Given the description of an element on the screen output the (x, y) to click on. 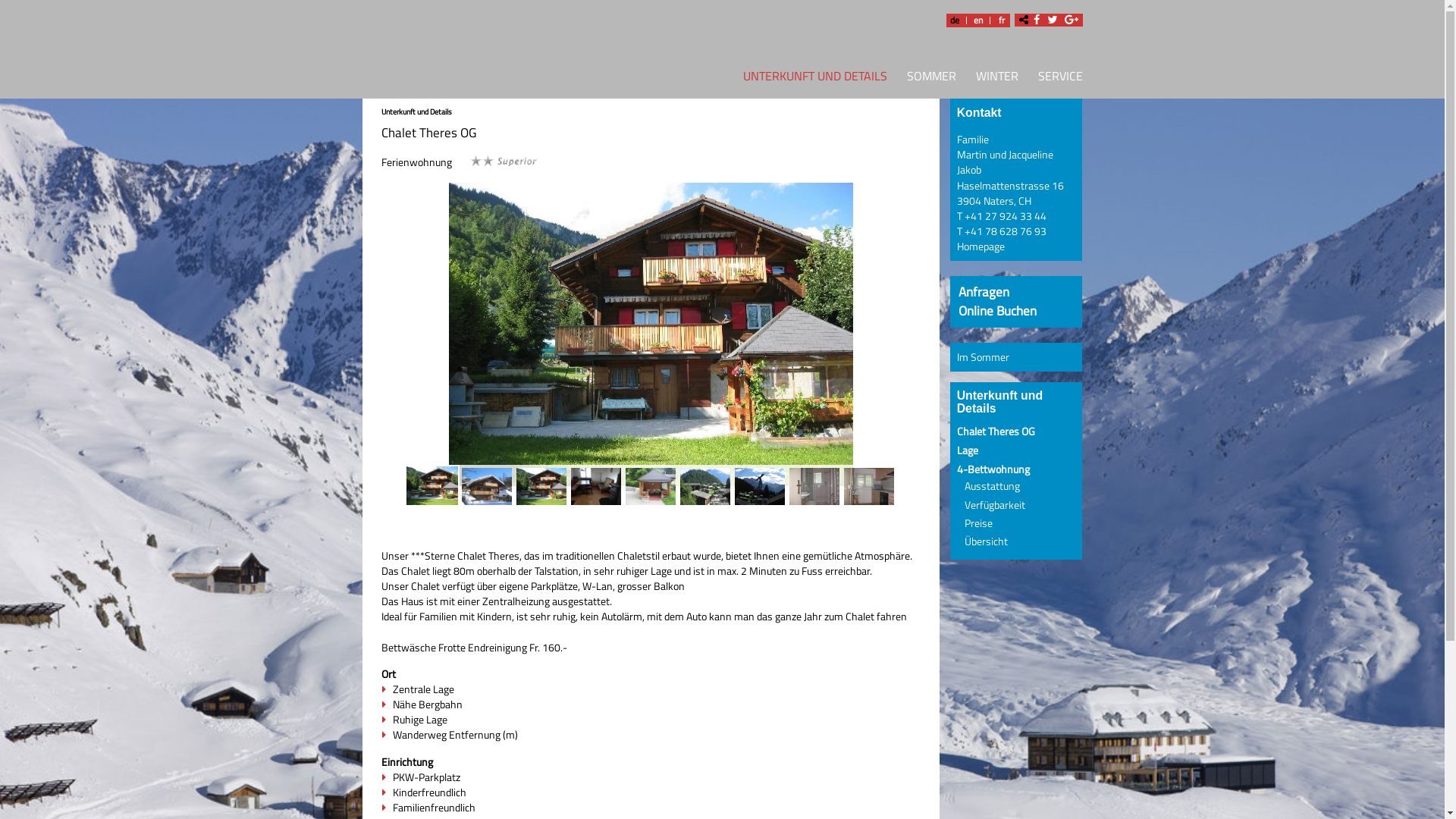
Chalet Theres OG Element type: text (996, 431)
SOMMER Element type: text (930, 78)
Im Sommer Element type: text (983, 356)
Online Buchen Element type: text (997, 310)
Homepage Element type: text (980, 246)
Unterkunft und Details Element type: text (415, 111)
UNTERKUNFT UND DETAILS Element type: text (809, 78)
fr Element type: text (1001, 19)
Preise Element type: text (978, 522)
Ausstattung Element type: text (991, 485)
de Element type: text (954, 19)
WINTER Element type: text (997, 78)
SERVICE Element type: text (1055, 78)
Lage Element type: text (967, 450)
Anfragen Element type: text (983, 291)
4-Bettwohnung Element type: text (993, 469)
en Element type: text (977, 19)
